Given the description of an element on the screen output the (x, y) to click on. 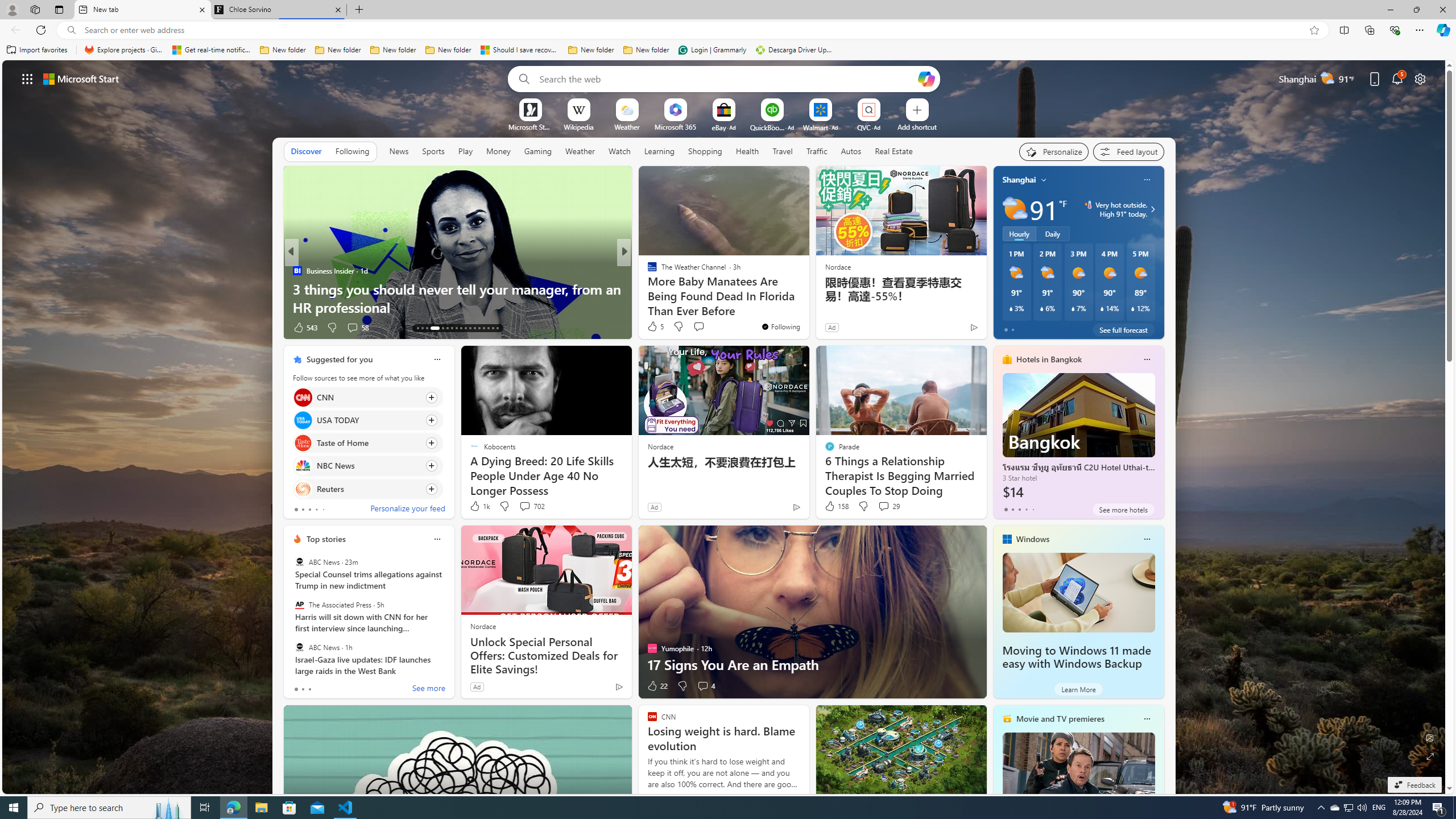
Daily (1052, 233)
AutomationID: tab-18 (446, 328)
Traffic (816, 151)
View comments 58 Comment (6, 327)
Click to follow source Reuters (367, 488)
Travel (782, 151)
661 Like (654, 327)
AutomationID: tab-40 (488, 328)
Travel (782, 151)
Notifications (1397, 78)
View comments 5 Comment (703, 327)
